Given the description of an element on the screen output the (x, y) to click on. 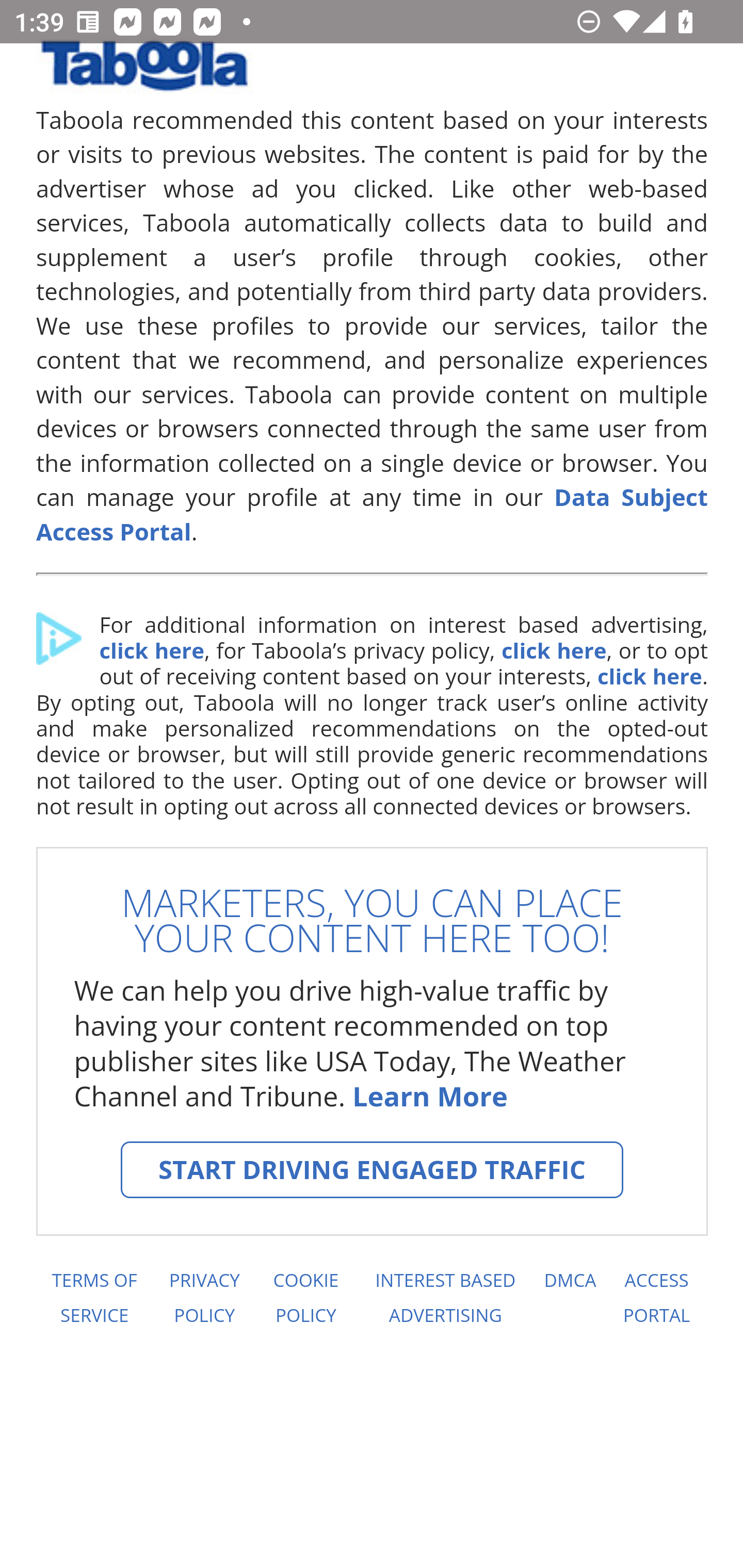
Taboola (144, 73)
Data Subject Access Portal (372, 513)
click here (151, 650)
click here (553, 650)
click here (648, 676)
Learn More (429, 1095)
START DRIVING ENGAGED TRAFFIC (371, 1169)
TERMS OF SERVICE (93, 1298)
PRIVACY POLICY (203, 1298)
COOKIE POLICY (305, 1298)
INTEREST BASED ADVERTISING (445, 1298)
DMCA (570, 1298)
ACCESS PORTAL (656, 1298)
